Given the description of an element on the screen output the (x, y) to click on. 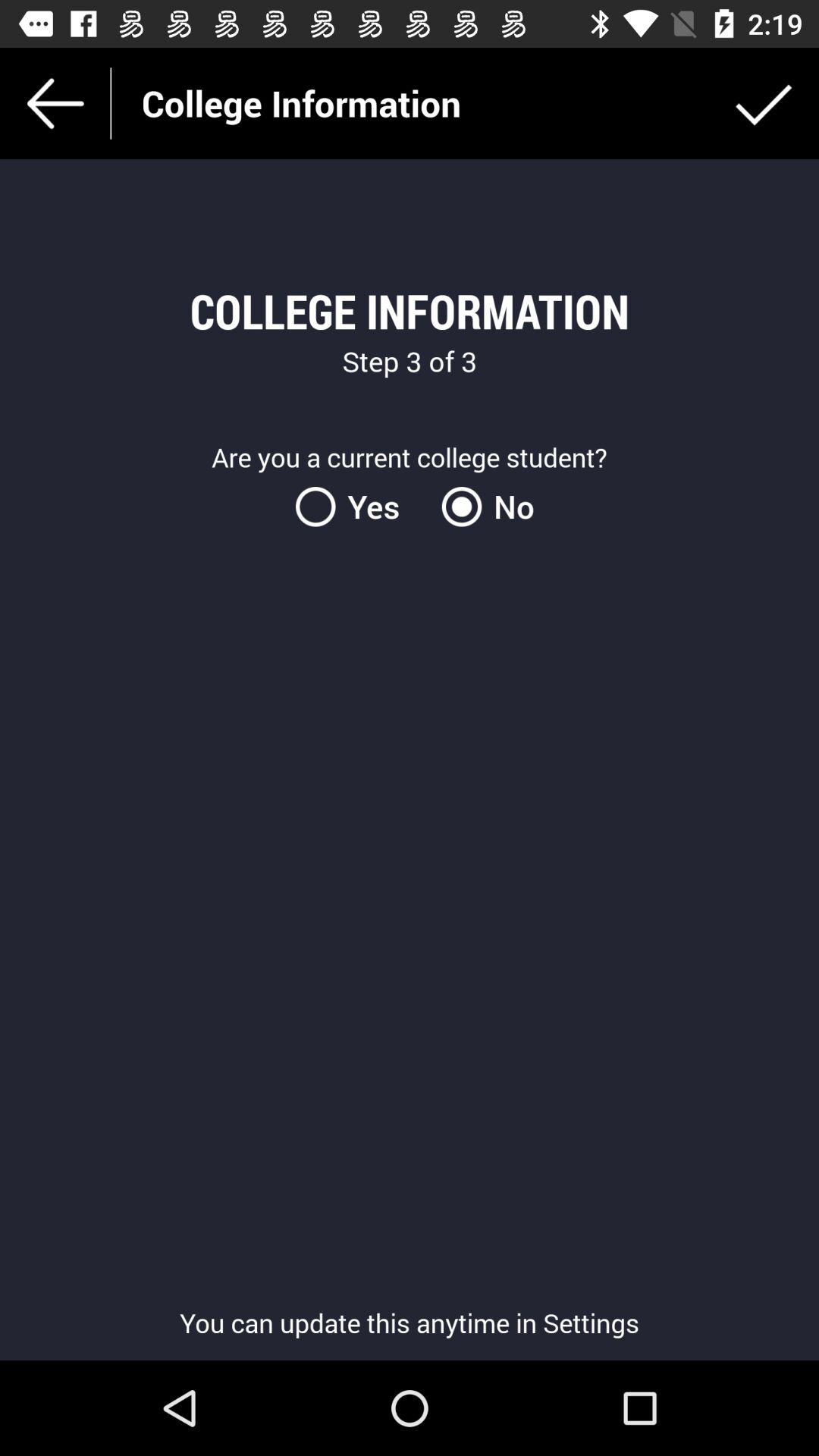
press the icon at the top right corner (763, 103)
